Given the description of an element on the screen output the (x, y) to click on. 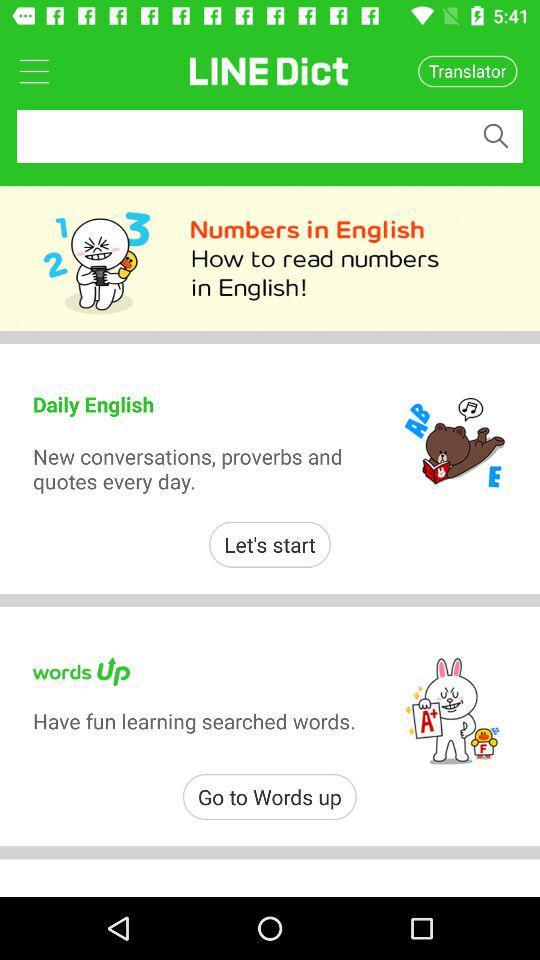
jump until let's start (269, 544)
